Given the description of an element on the screen output the (x, y) to click on. 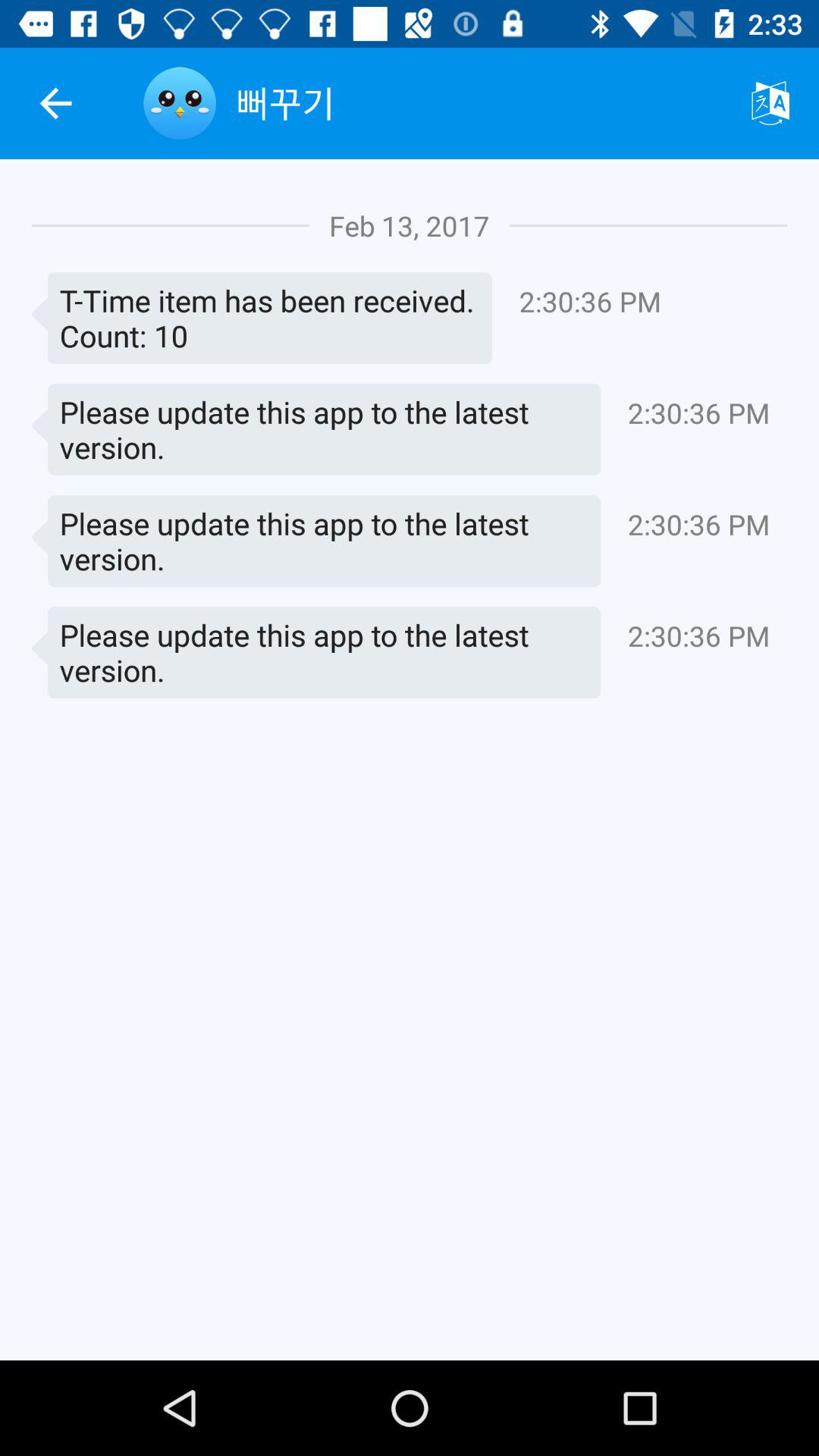
turn on the icon above the feb 13, 2017 (479, 103)
